Given the description of an element on the screen output the (x, y) to click on. 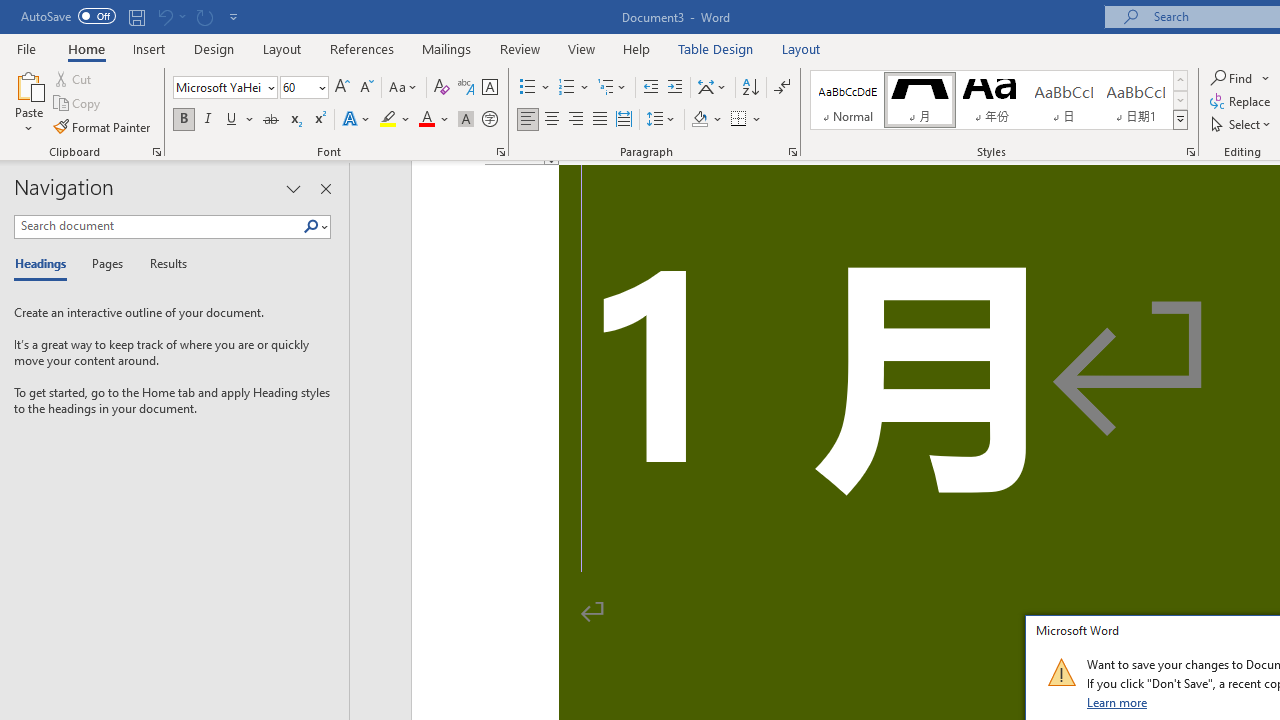
Open (320, 87)
Distributed (623, 119)
Design (214, 48)
Text Highlight Color (395, 119)
Borders (746, 119)
Search (315, 227)
Task Pane Options (293, 188)
Bullets (535, 87)
Table Design (715, 48)
Underline (239, 119)
Show/Hide Editing Marks (781, 87)
Font (224, 87)
Review (520, 48)
